Given the description of an element on the screen output the (x, y) to click on. 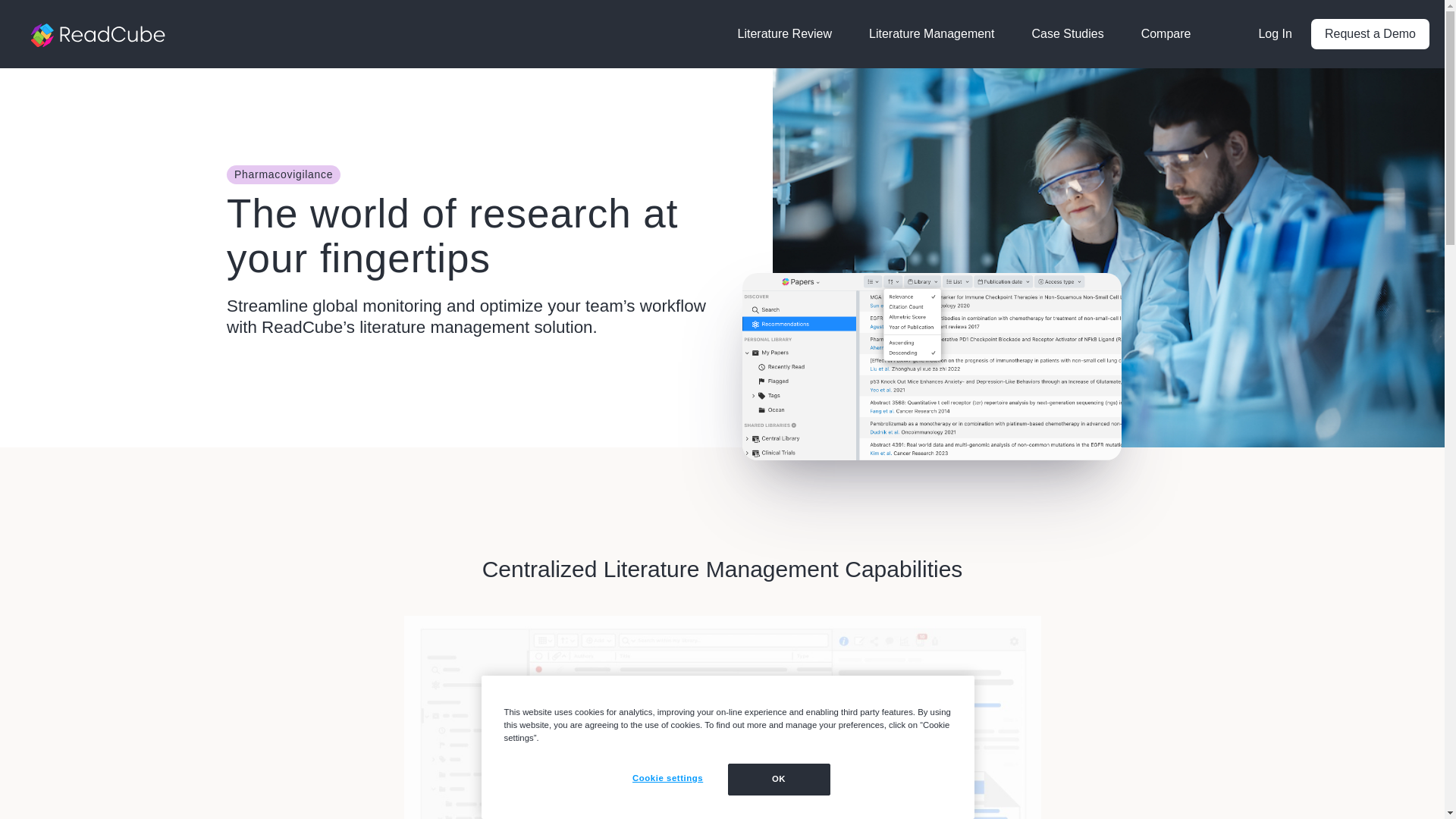
Literature Review (784, 33)
Compare (1165, 33)
Log In (1274, 33)
Request a Demo (1370, 33)
Literature Management (930, 33)
Case Studies (1067, 33)
